Given the description of an element on the screen output the (x, y) to click on. 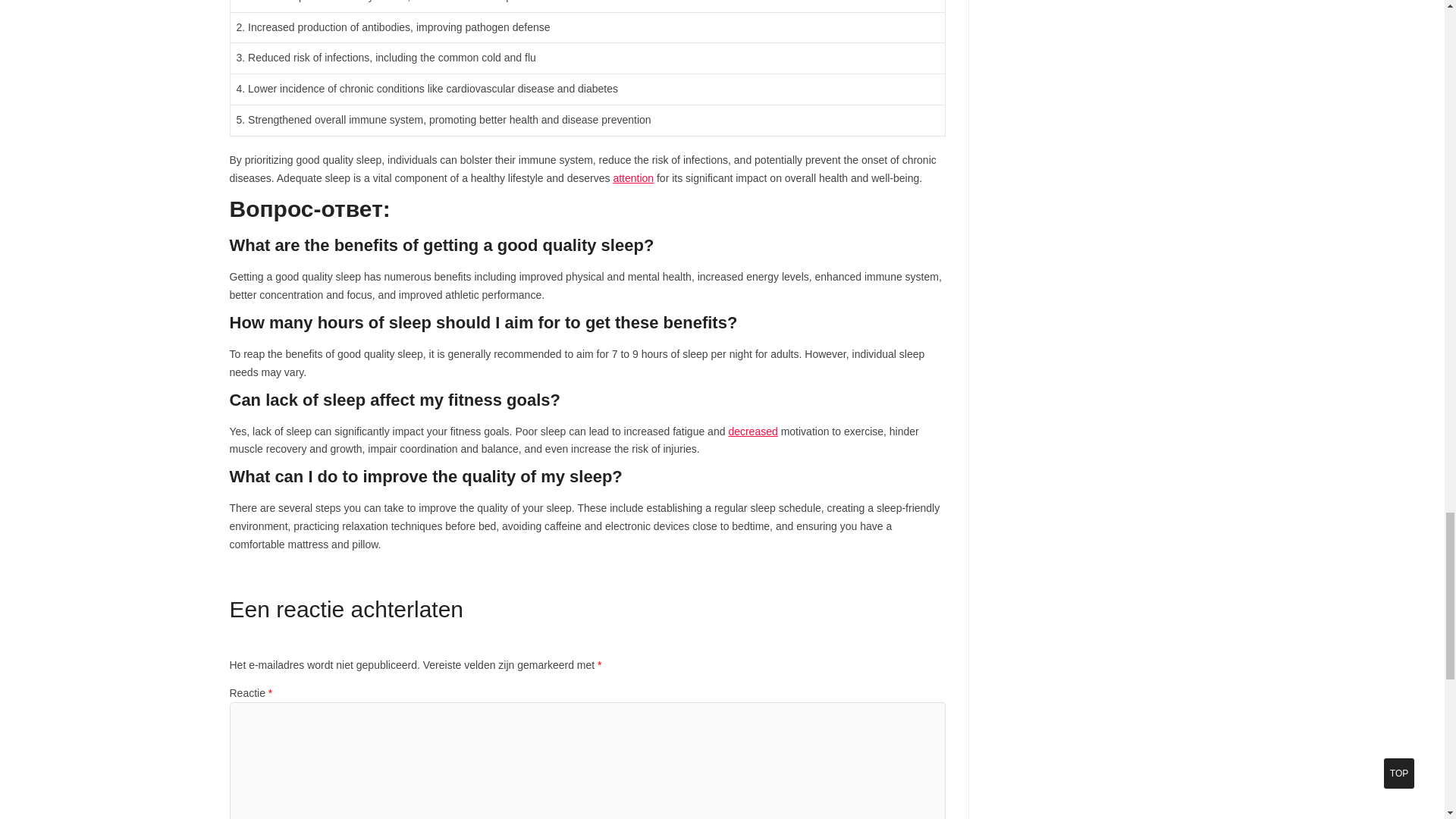
attention (632, 177)
decreased (752, 431)
